Given the description of an element on the screen output the (x, y) to click on. 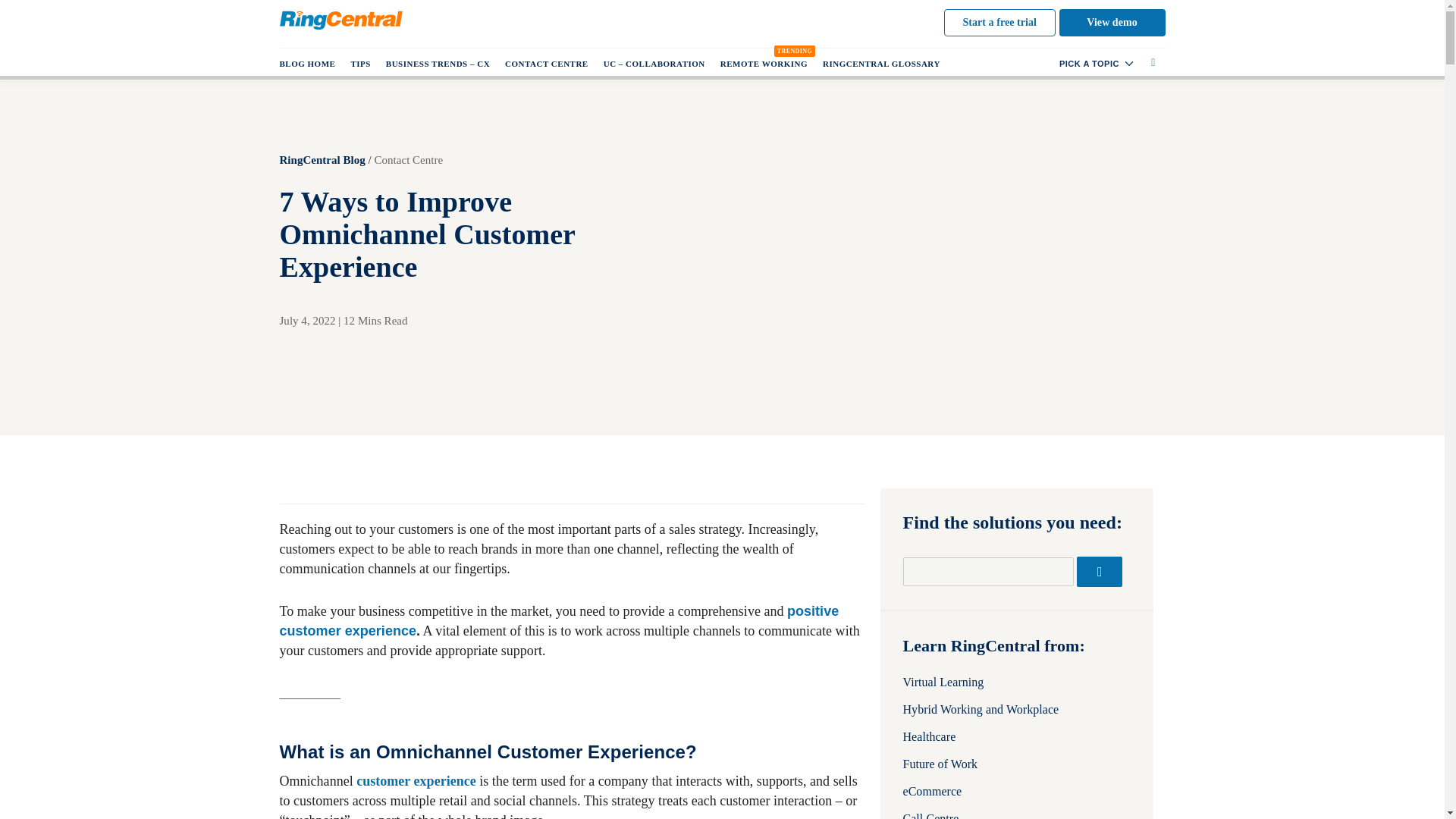
Business Trends and Customer Experience (437, 63)
PICK A TOPIC (1096, 63)
RingCentral Blog (322, 159)
positive customer experience (558, 620)
Blog Homepage (310, 63)
BLOG HOME (310, 63)
Business Tips (359, 63)
REMOTE WORKING (764, 63)
Unified Communications (654, 63)
